Given the description of an element on the screen output the (x, y) to click on. 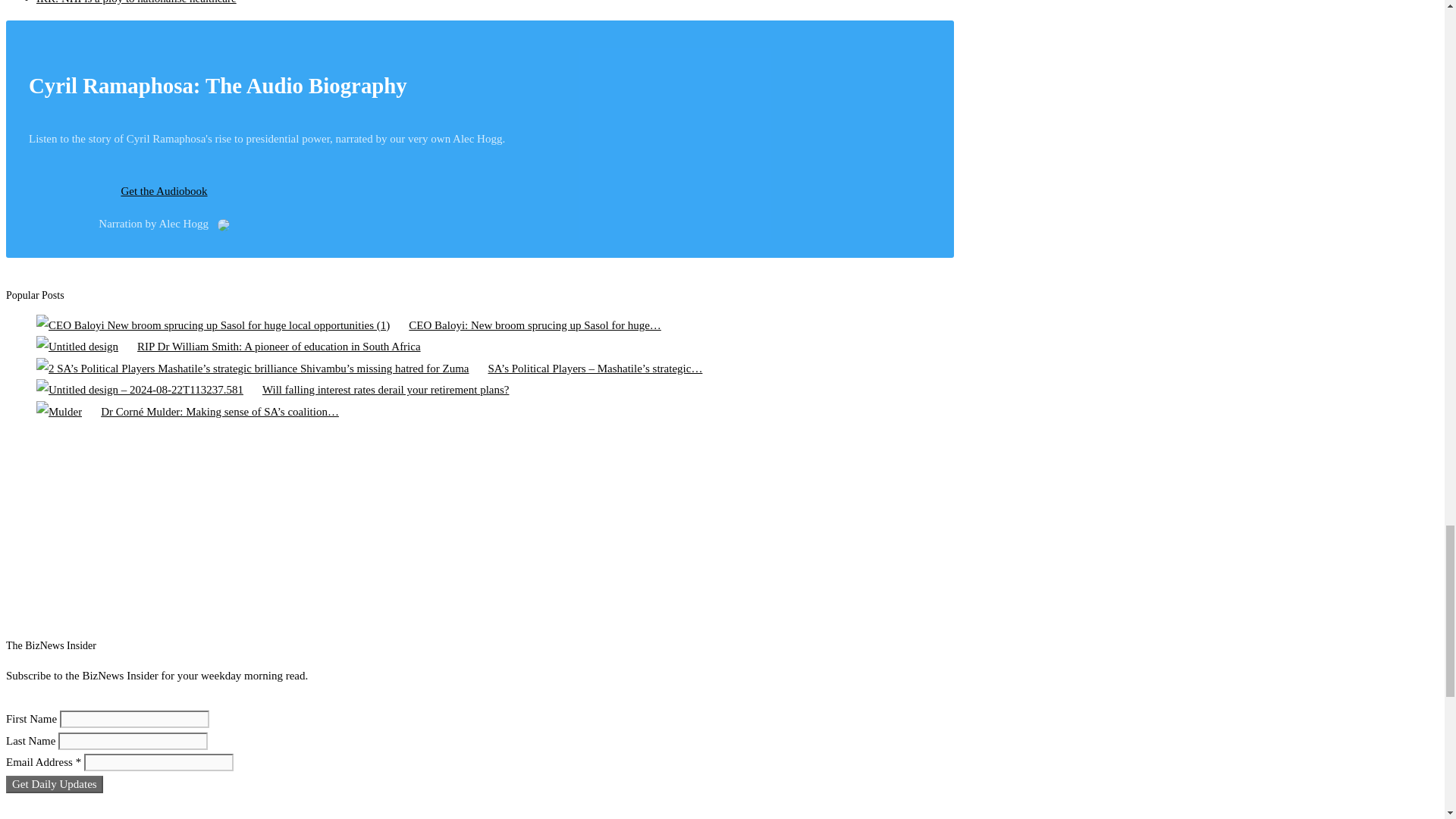
IRR: NHI is a ploy to nationalise healthcare (135, 2)
RIP Dr William Smith: A pioneer of education in South Africa (76, 346)
Spotify Embed: BizNews Radio (464, 532)
Will falling interest rates derail your retirement plans? (139, 390)
Get Daily Updates (54, 784)
